Given the description of an element on the screen output the (x, y) to click on. 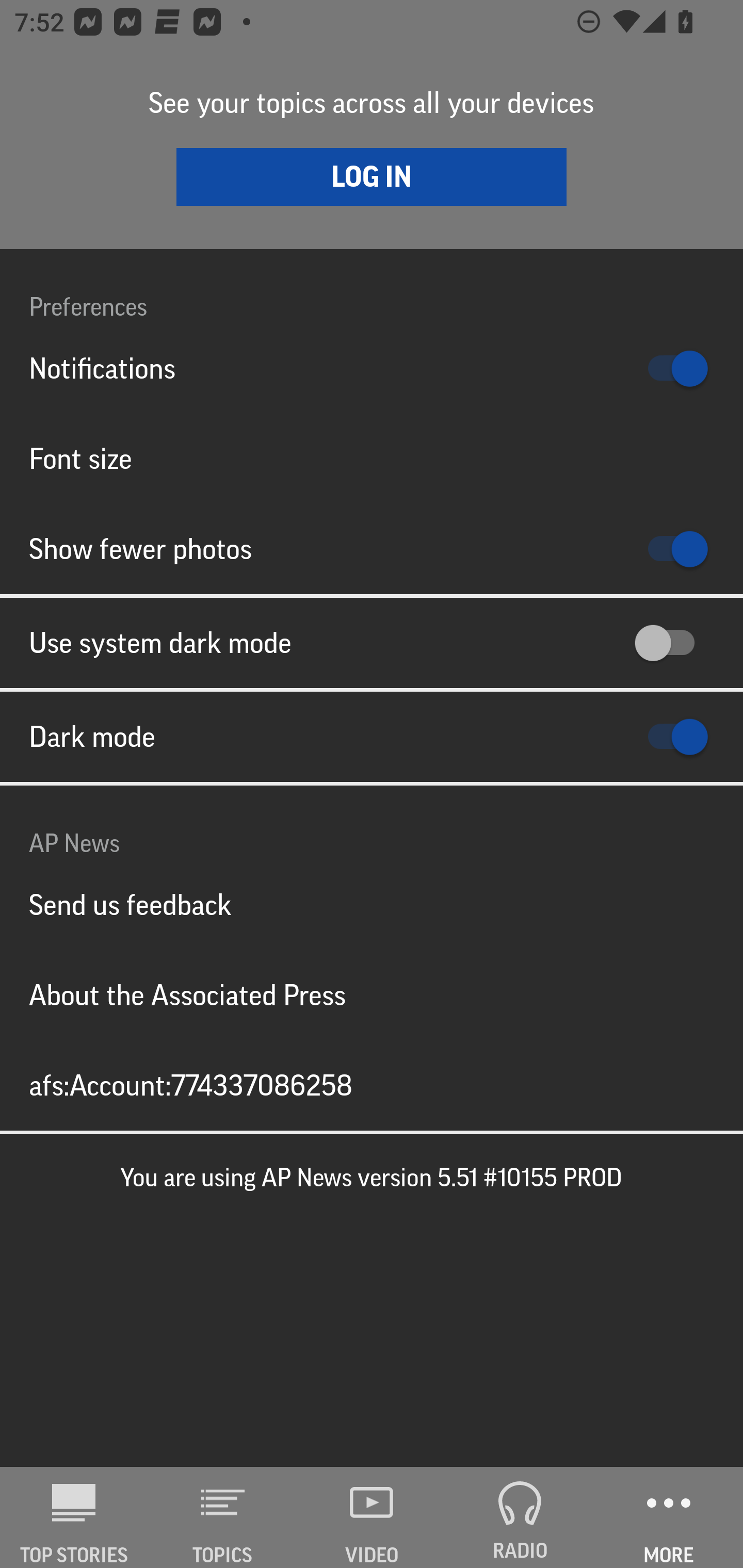
LOG IN (371, 176)
Notifications (371, 368)
Font size (371, 458)
Show fewer photos (371, 548)
Use system dark mode (371, 642)
Dark mode (371, 736)
Send us feedback (371, 904)
About the Associated Press (371, 994)
afs:Account:774337086258 (371, 1084)
AP News TOP STORIES (74, 1517)
TOPICS (222, 1517)
VIDEO (371, 1517)
RADIO (519, 1517)
MORE (668, 1517)
